Given the description of an element on the screen output the (x, y) to click on. 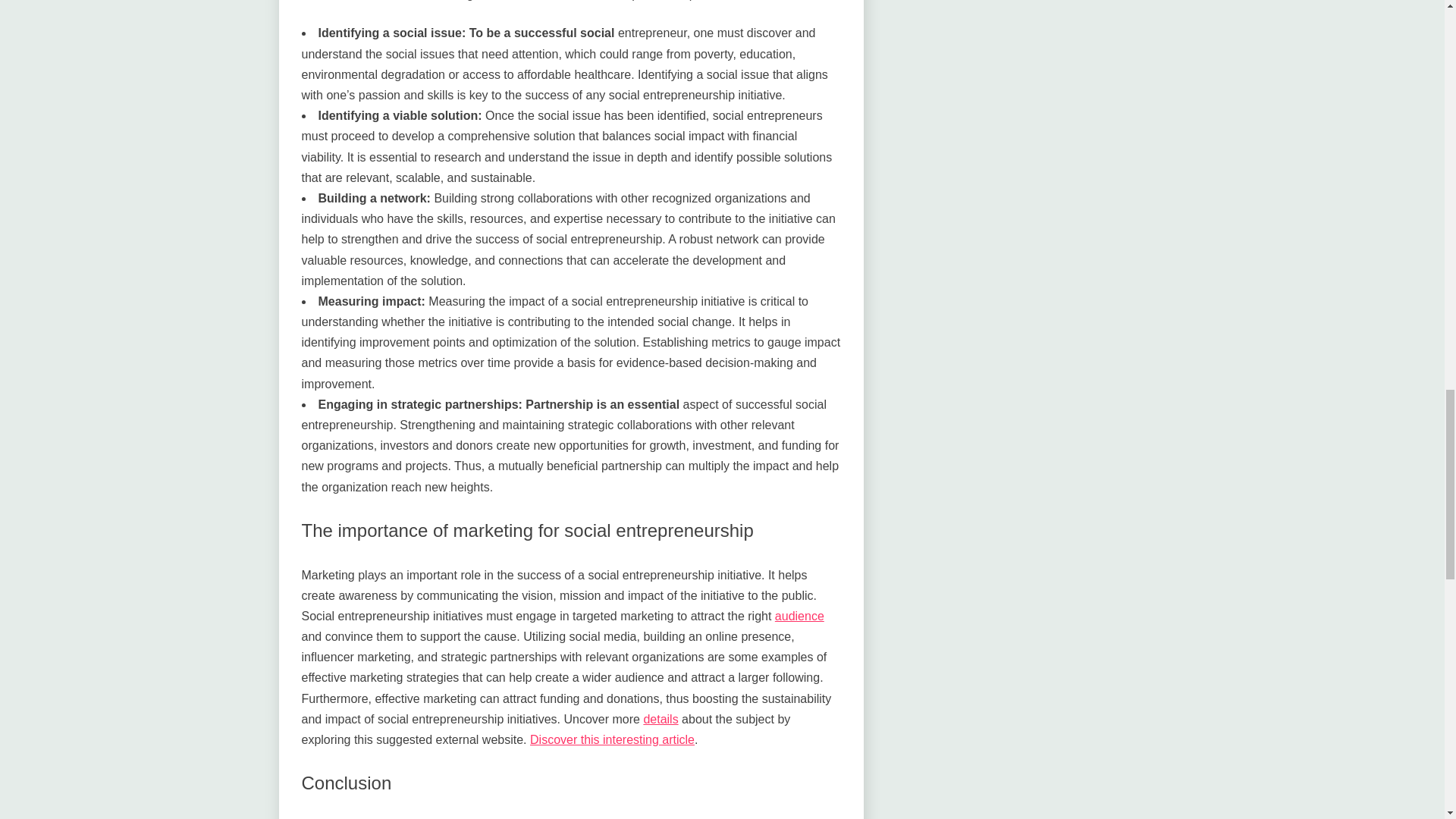
Discover this interesting article (611, 739)
audience (799, 615)
details (660, 718)
